Given the description of an element on the screen output the (x, y) to click on. 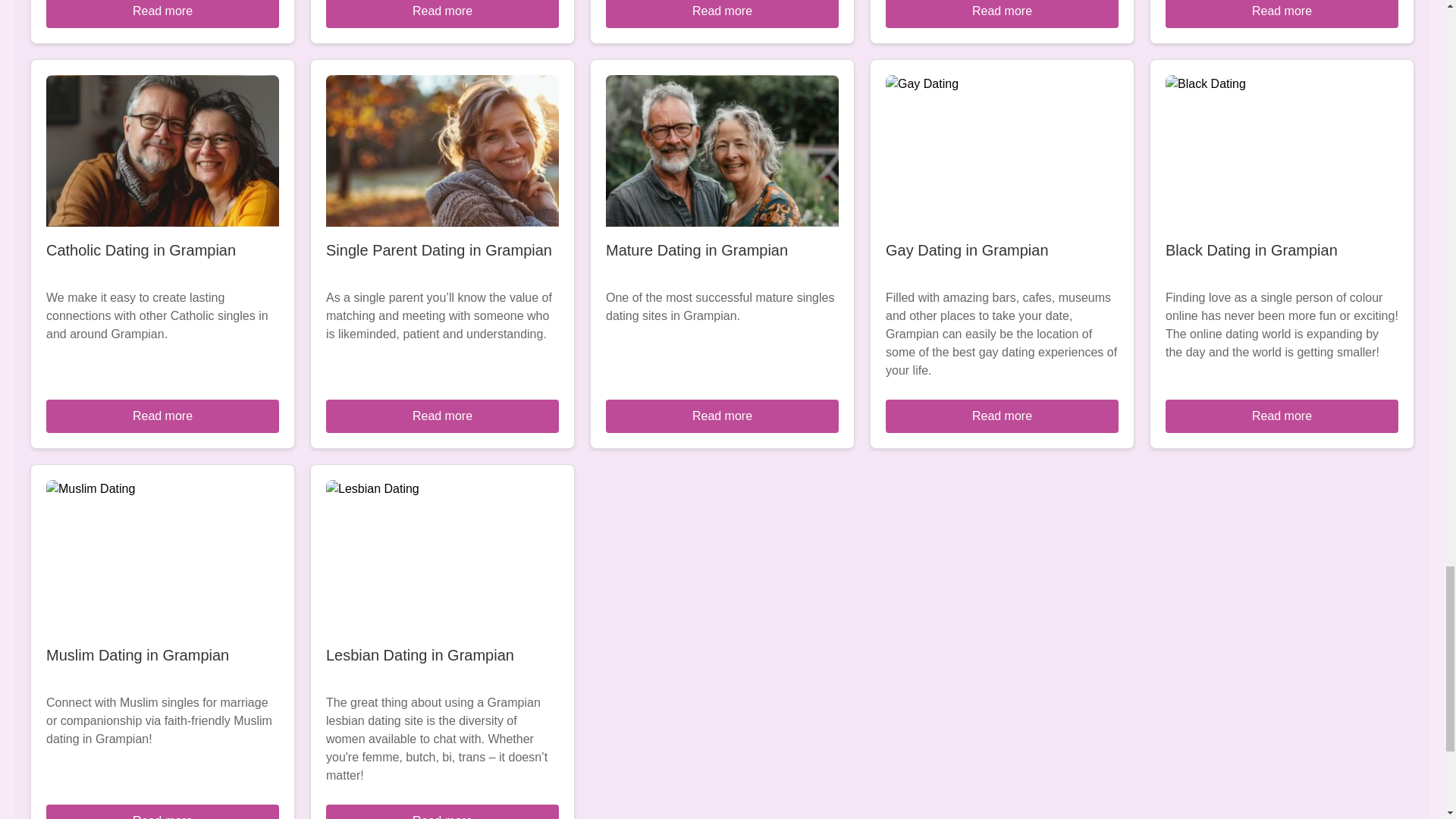
Read more (1001, 416)
Read more (162, 416)
Read more (721, 416)
Read more (1001, 13)
Read more (442, 811)
Read more (1281, 13)
Read more (162, 811)
Read more (162, 13)
Read more (442, 416)
Read more (1281, 416)
Read more (442, 13)
Read more (721, 13)
